Given the description of an element on the screen output the (x, y) to click on. 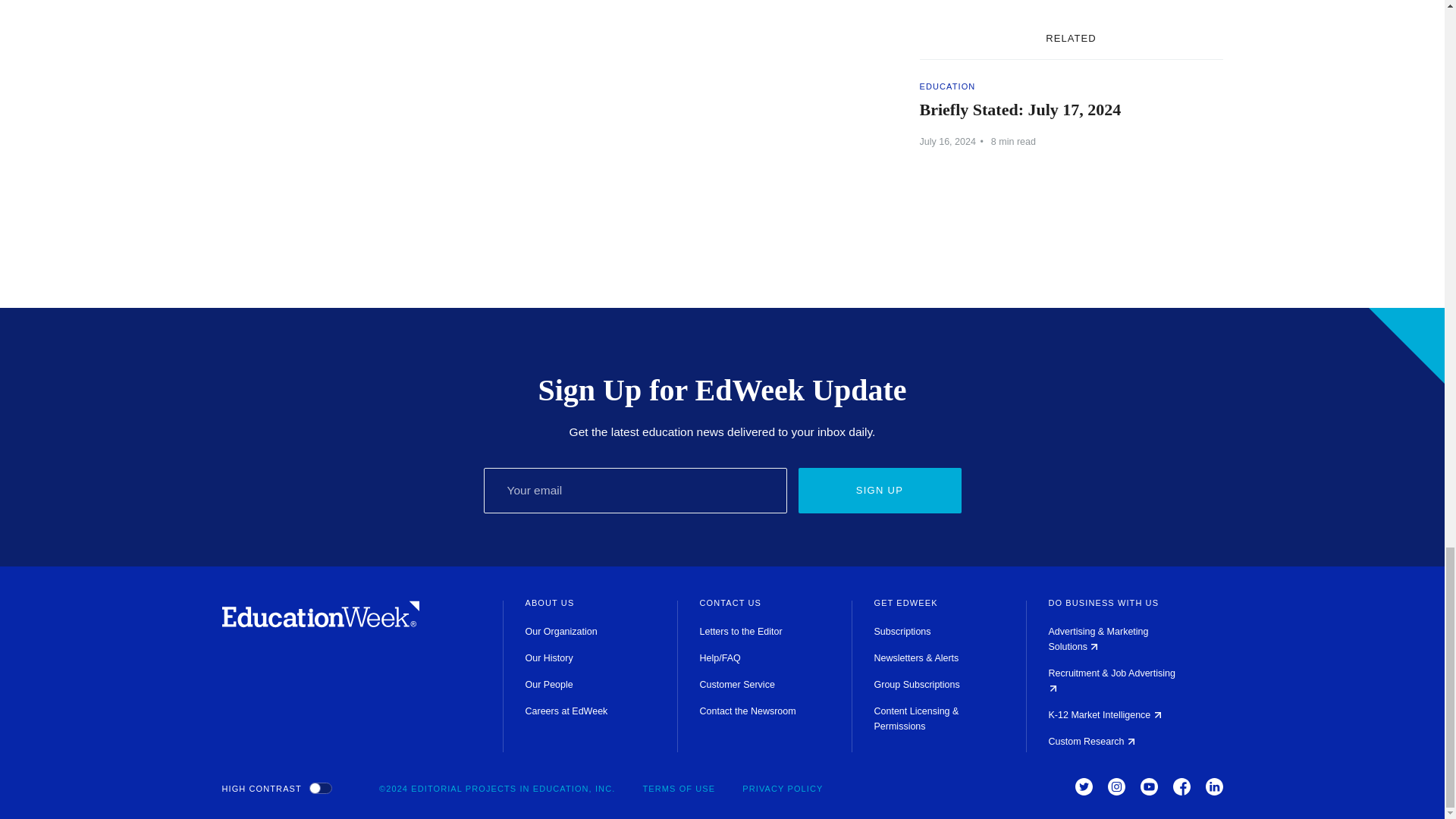
Homepage (320, 623)
